Given the description of an element on the screen output the (x, y) to click on. 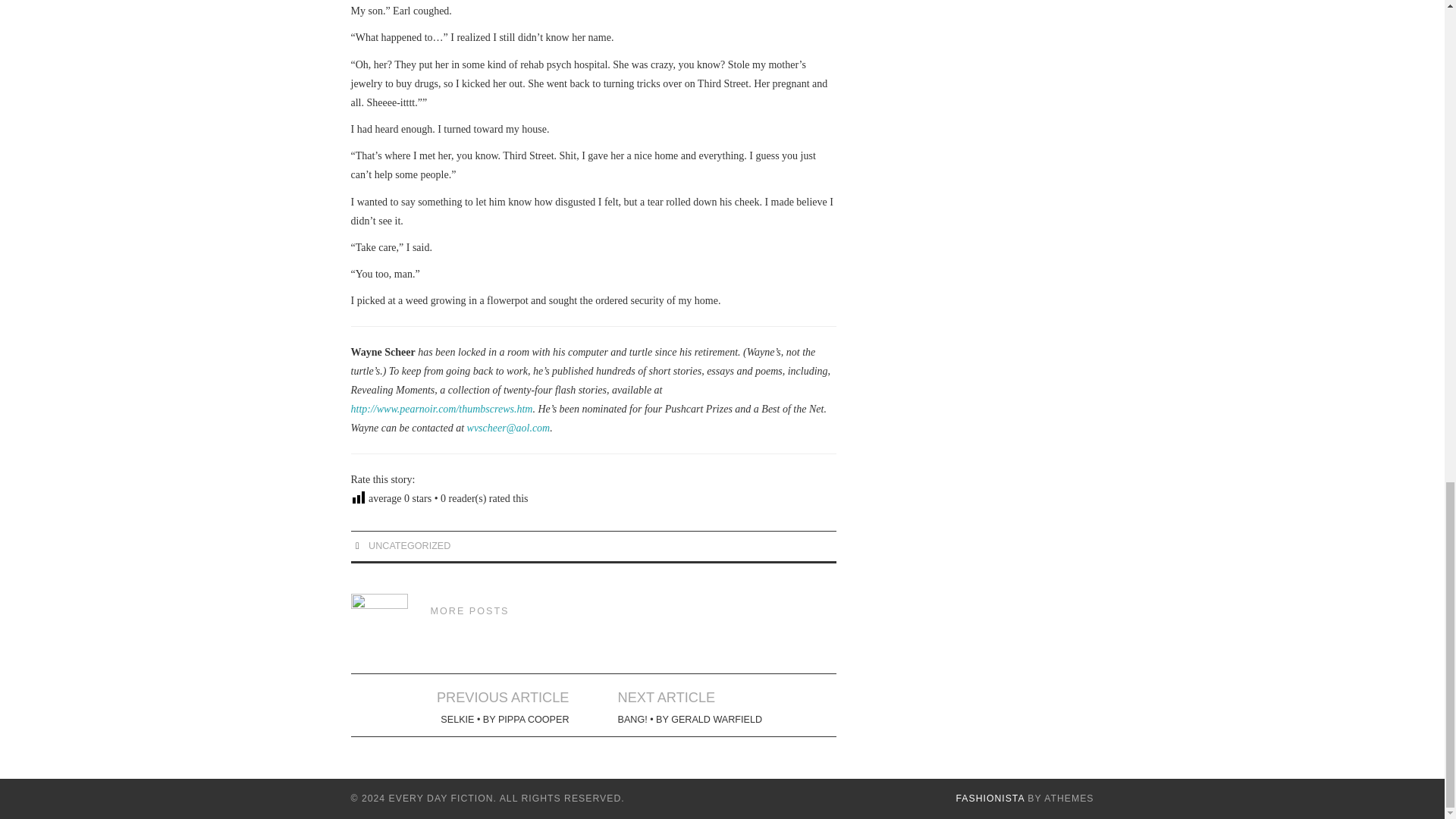
MORE POSTS (469, 611)
